Given the description of an element on the screen output the (x, y) to click on. 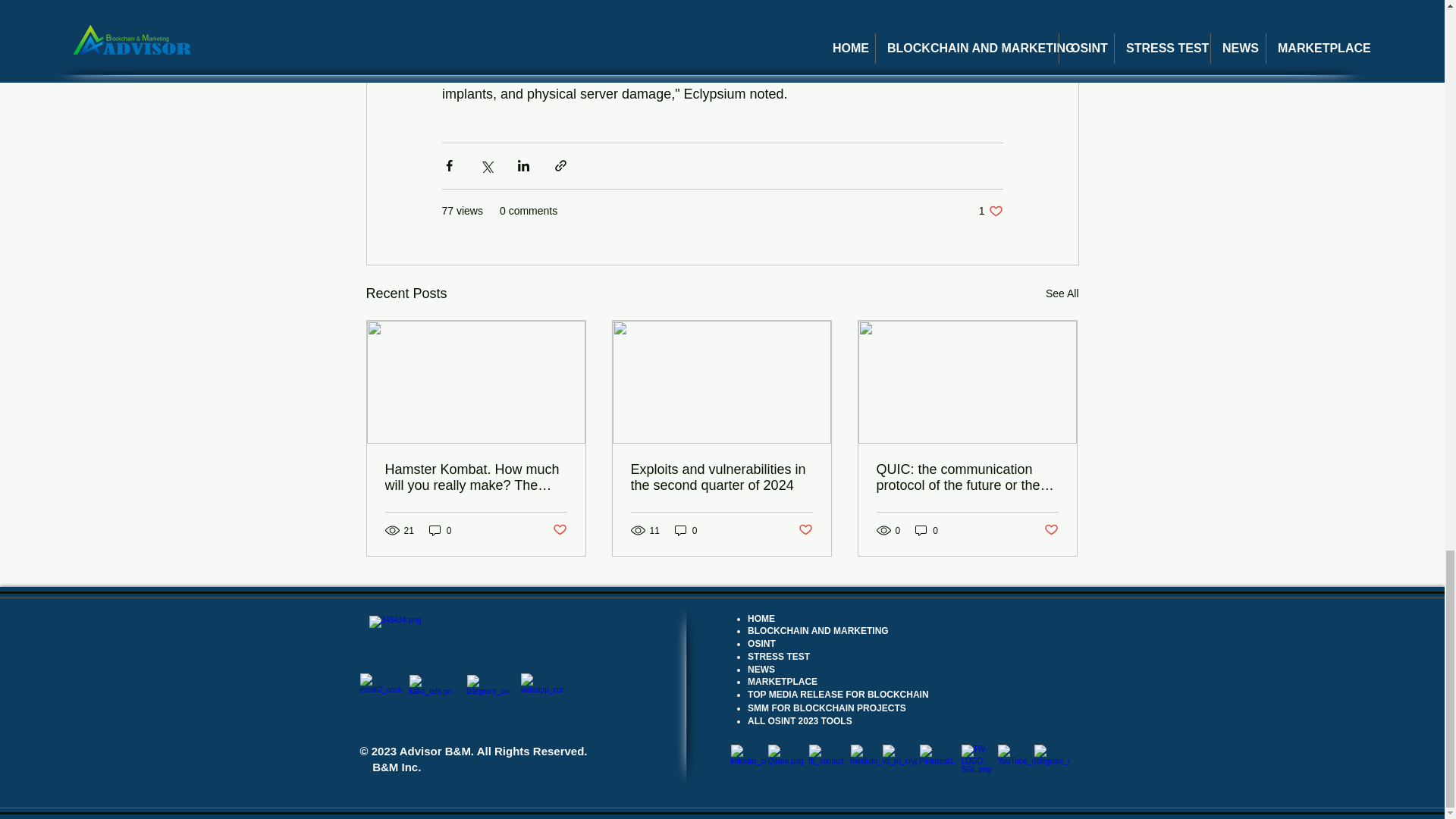
Exploits and vulnerabilities in the second quarter of 2024 (721, 477)
Post not marked as liked (1050, 530)
0 (440, 530)
Post not marked as liked (558, 530)
See All (990, 210)
Post not marked as liked (1061, 293)
0 (804, 530)
0 (685, 530)
